Given the description of an element on the screen output the (x, y) to click on. 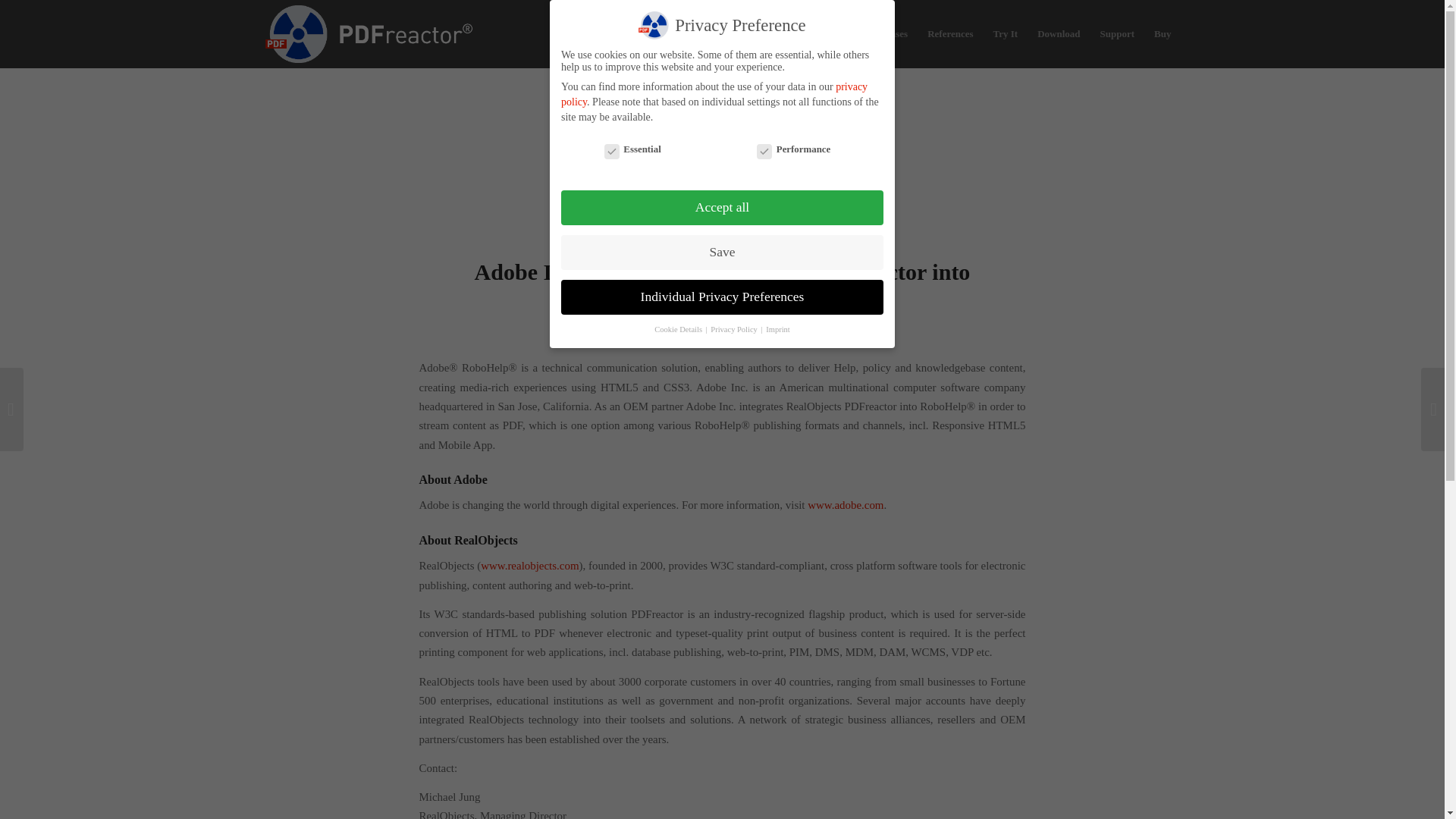
References (949, 33)
www.realobjects.com (529, 565)
Use Cases (886, 33)
Download (1058, 33)
www.adobe.com (845, 504)
